Given the description of an element on the screen output the (x, y) to click on. 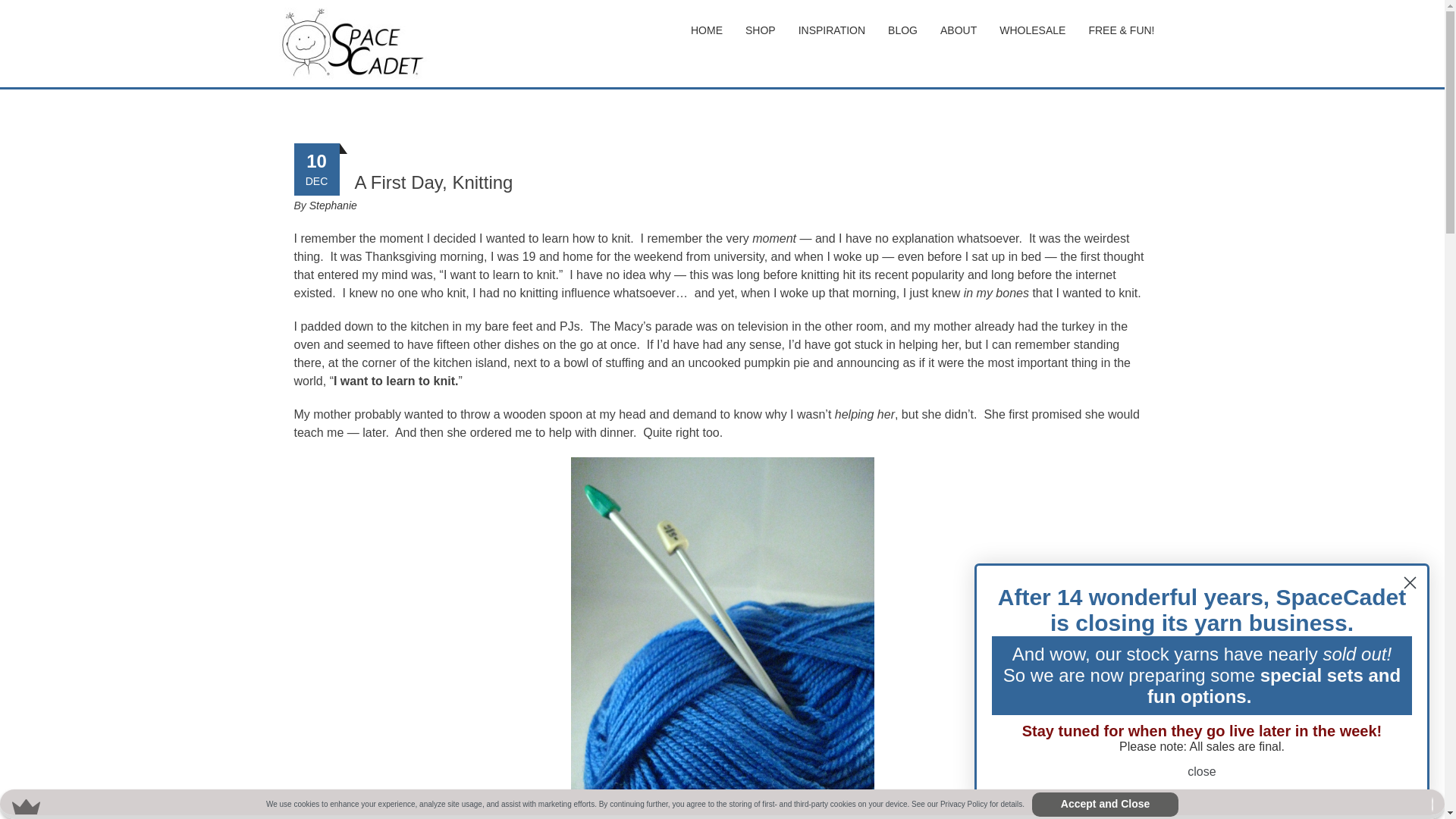
INSPIRATION (831, 30)
ABOUT (958, 30)
Accept and Close (1104, 803)
BLOG (902, 30)
Close dialog 1 (1409, 582)
HOME (706, 30)
SHOP (760, 30)
WHOLESALE (1032, 30)
acrylic yarn and mismatched metal needles (721, 638)
Stephanie (332, 205)
